Given the description of an element on the screen output the (x, y) to click on. 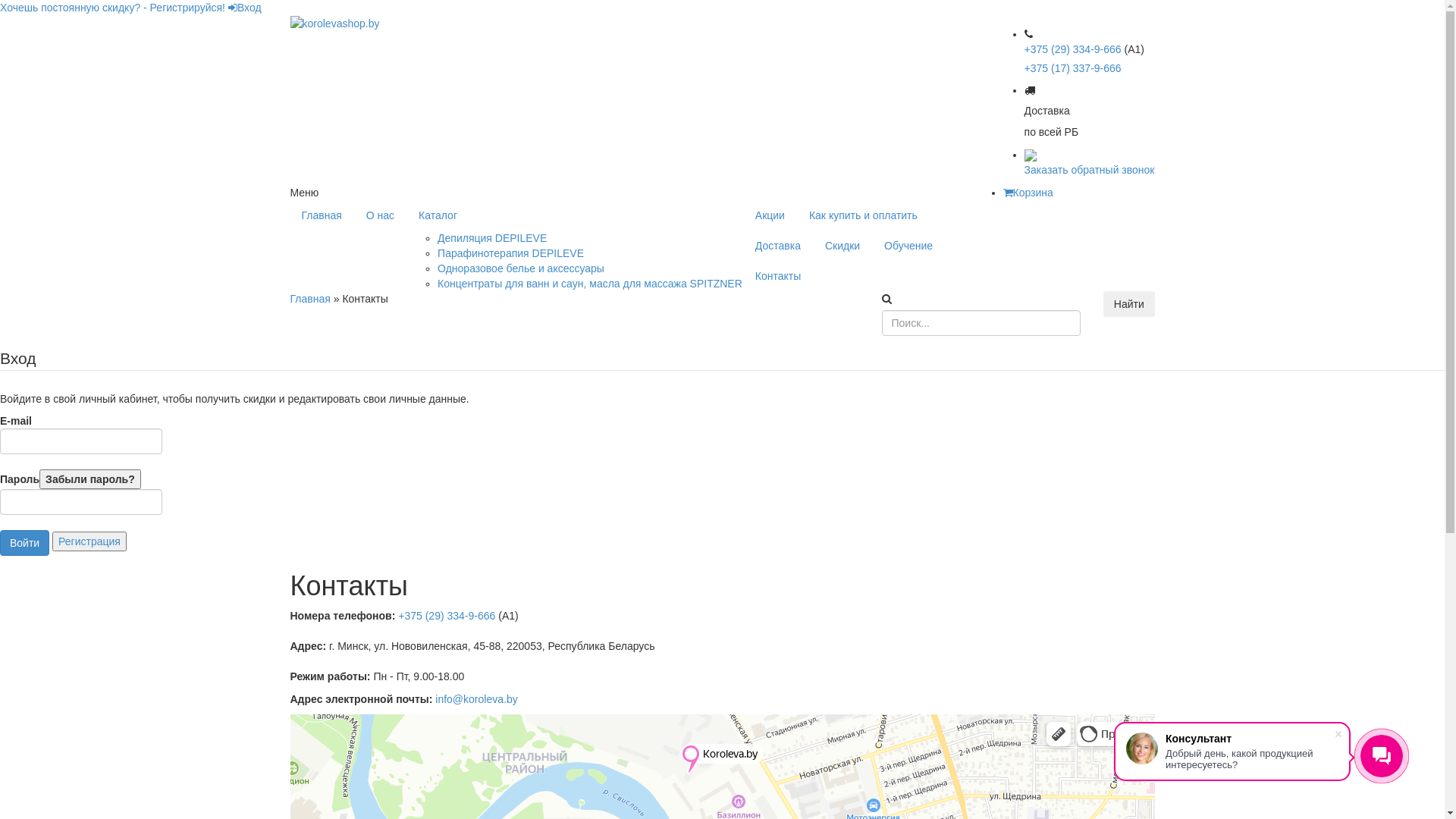
+375 (29) 334-9-666 Element type: text (1072, 49)
info@koroleva.by Element type: text (476, 699)
+375 (17) 337-9-666 Element type: text (1072, 68)
korolevashop.by Element type: hover (334, 23)
+375 (29) 334-9-666 Element type: text (445, 615)
